Given the description of an element on the screen output the (x, y) to click on. 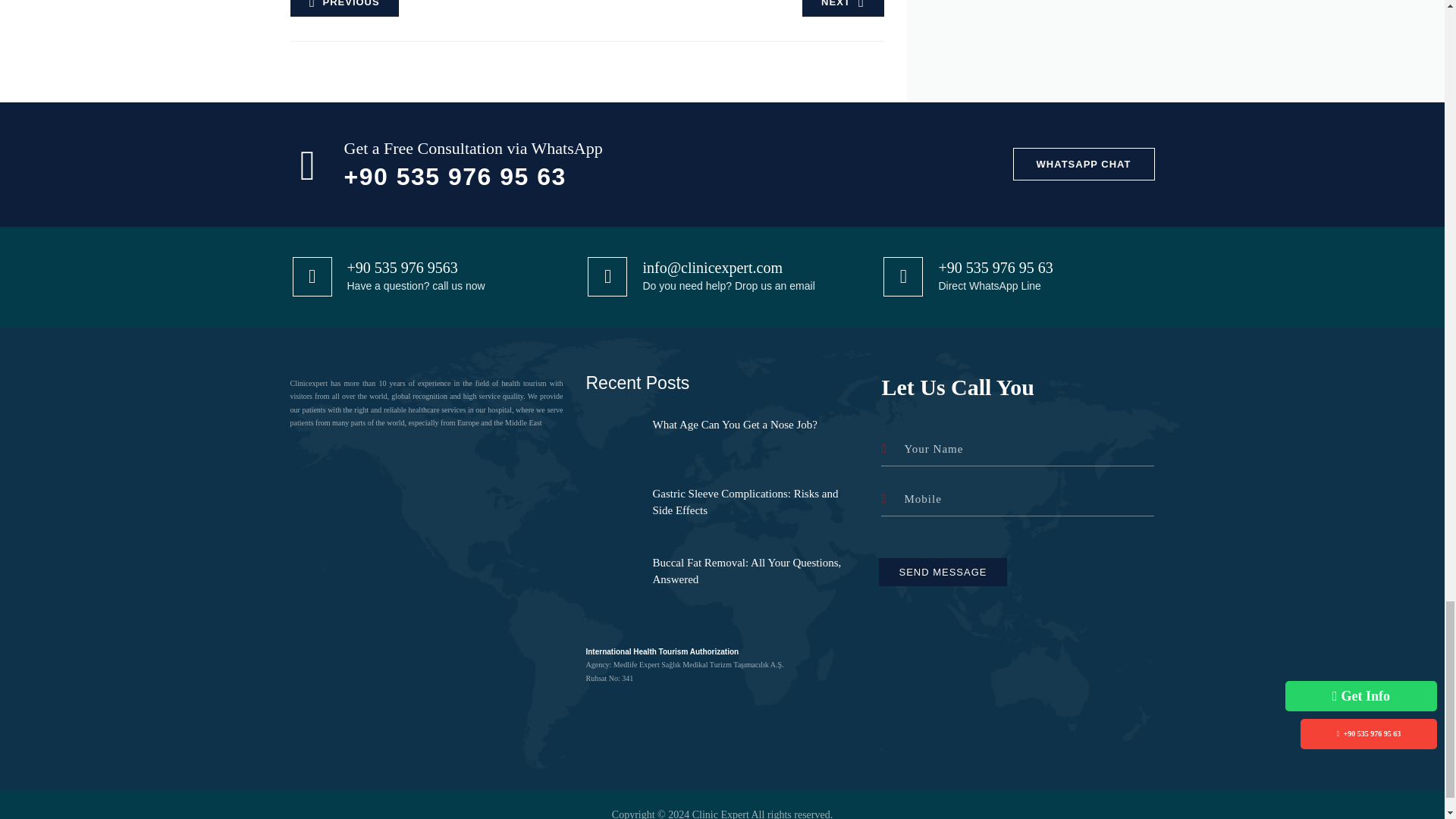
SEND MESSAGE (942, 571)
Hair Transplant For Women (842, 8)
Hair Transplant Recovery Process (343, 8)
DMCA.com Protection Status (425, 537)
